Given the description of an element on the screen output the (x, y) to click on. 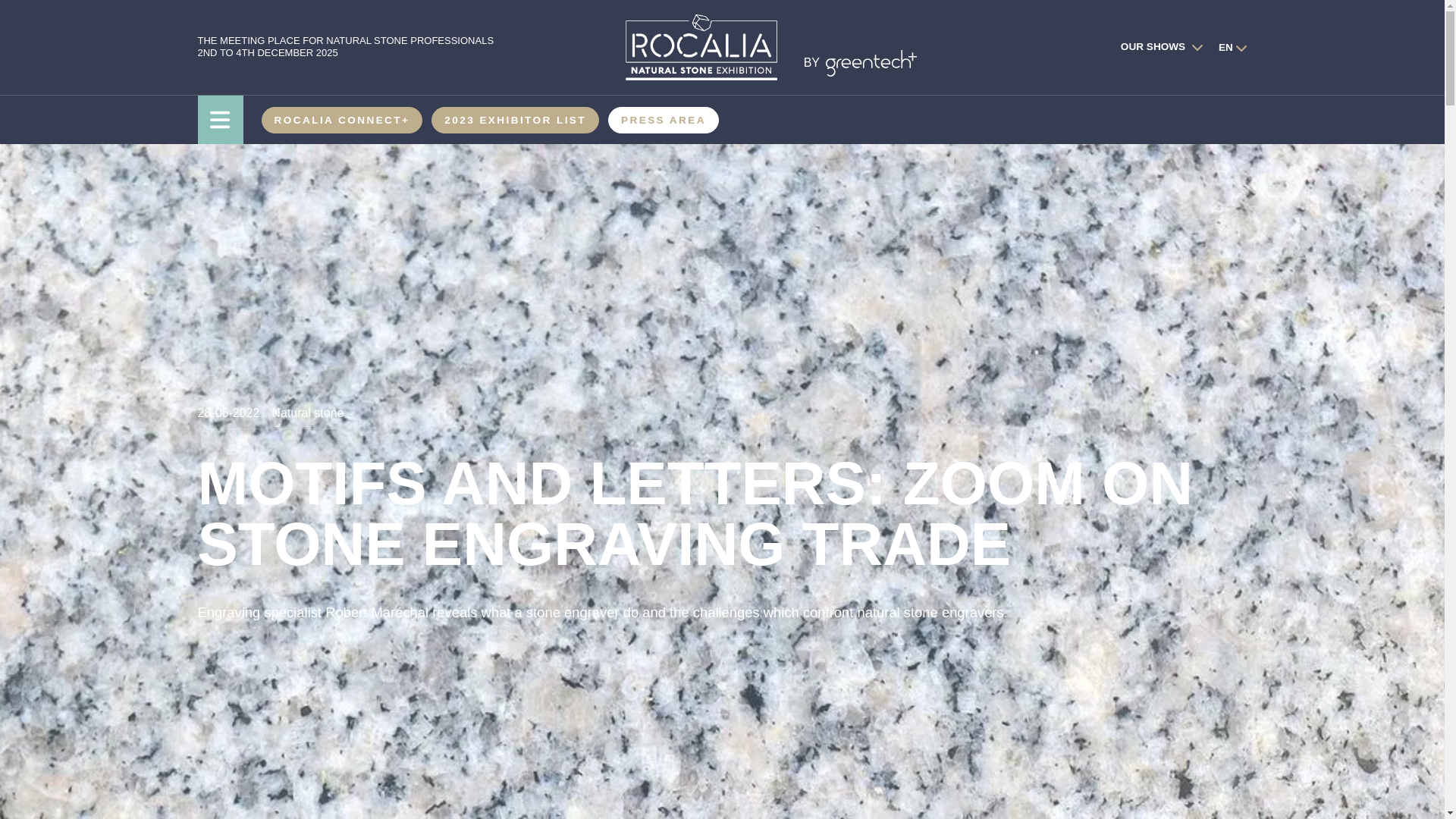
Greentech logo (871, 62)
2023 EXHIBITOR LIST (515, 119)
EN (1225, 46)
PRESS AREA (663, 119)
Logo en (700, 47)
